Given the description of an element on the screen output the (x, y) to click on. 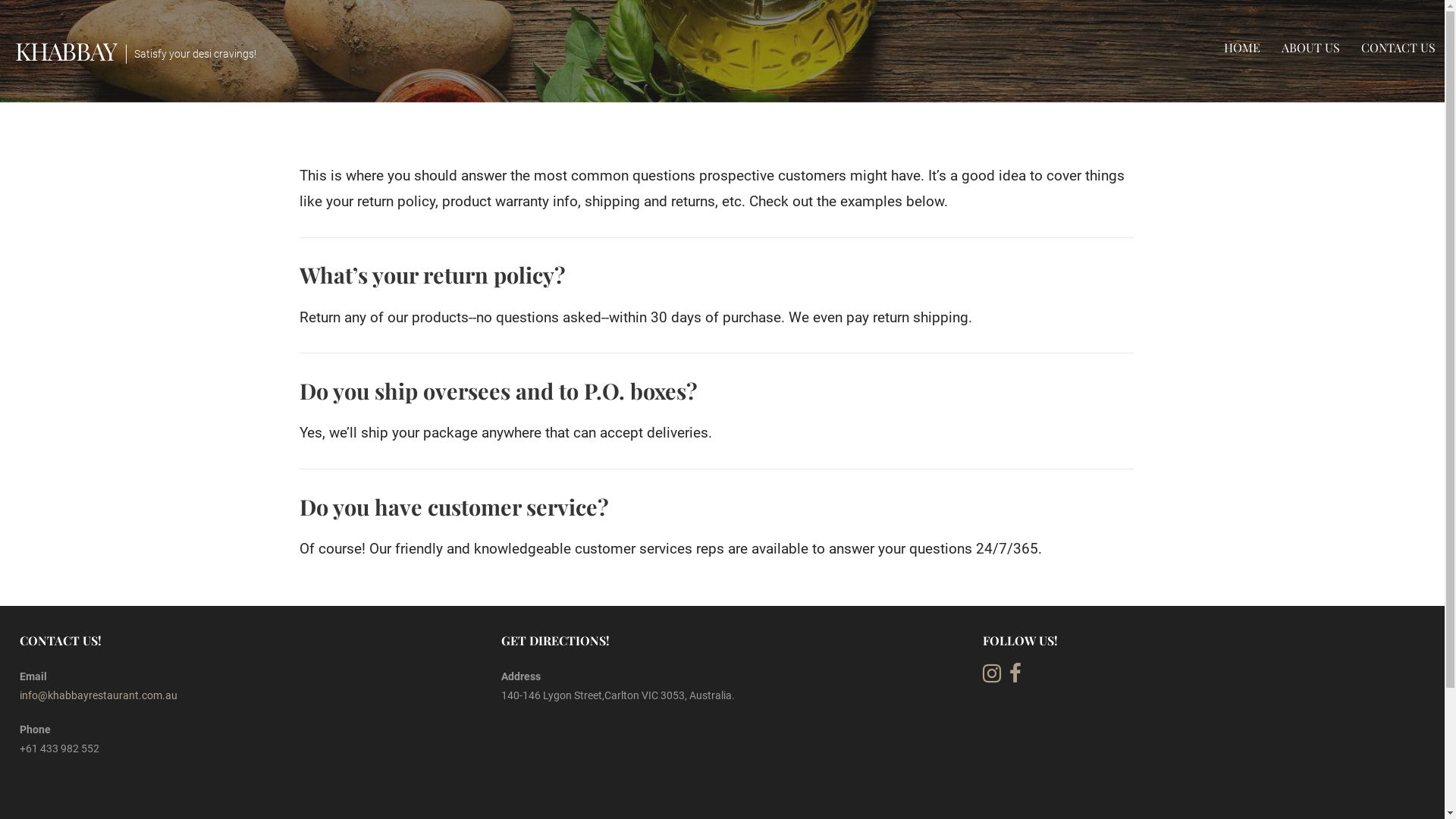
ABOUT US Element type: text (1310, 47)
info@khabbayrestaurant.com.au Element type: text (98, 695)
HOME Element type: text (1241, 47)
Visit Khabbay on Facebook Element type: hover (1015, 677)
KHABBAY Element type: text (65, 50)
CONTACT US Element type: text (1398, 47)
Visit Khabbay on Instagram Element type: hover (991, 677)
